Given the description of an element on the screen output the (x, y) to click on. 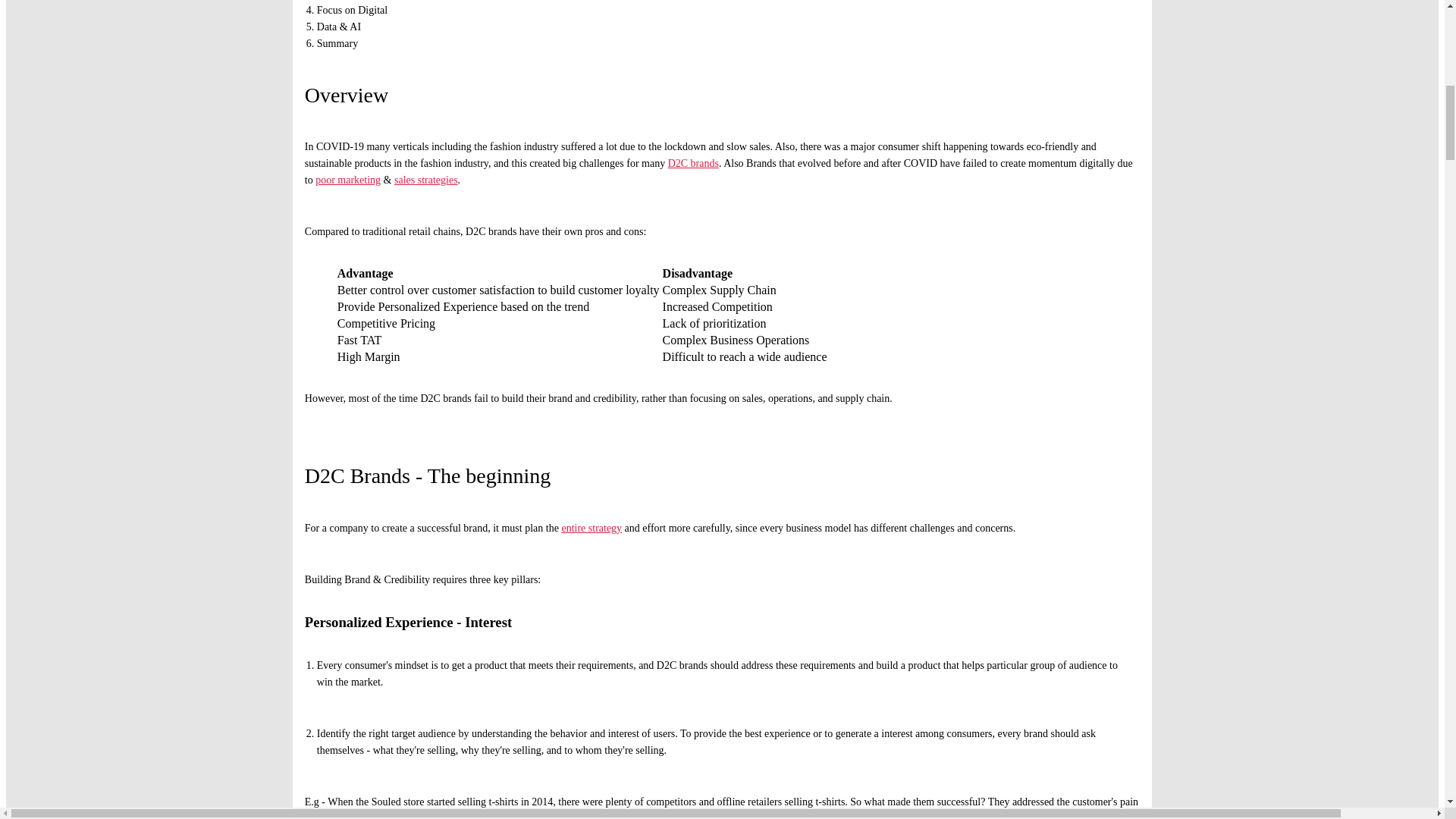
D2C brands (693, 163)
sales strategies (426, 179)
entire strategy (590, 527)
poor marketing (347, 179)
